Given the description of an element on the screen output the (x, y) to click on. 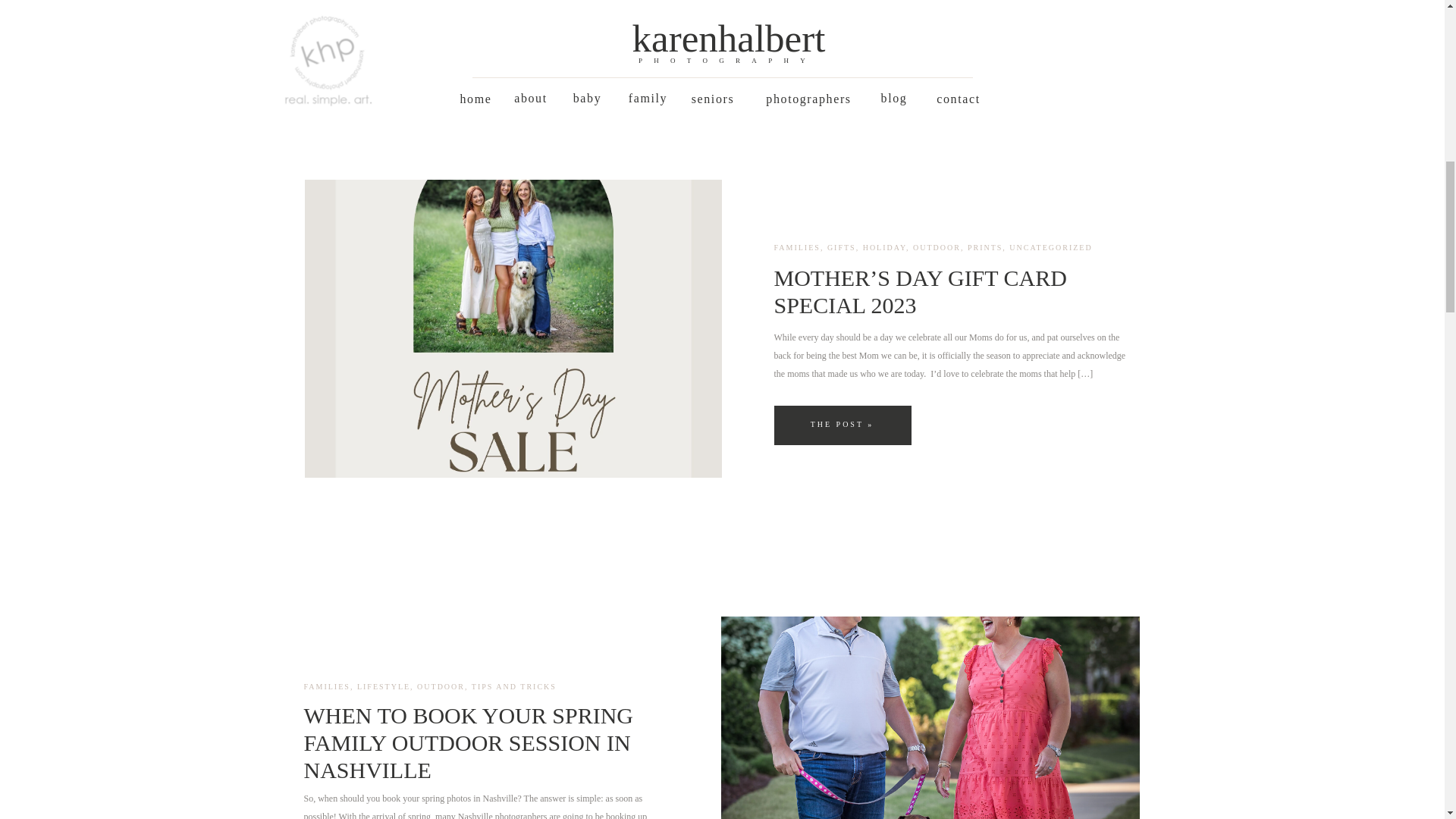
OUTDOOR (936, 247)
HOLIDAY (884, 247)
When to book your Spring family outdoor session in Nashville (929, 717)
FAMILIES (796, 247)
GIFTS (841, 247)
